Given the description of an element on the screen output the (x, y) to click on. 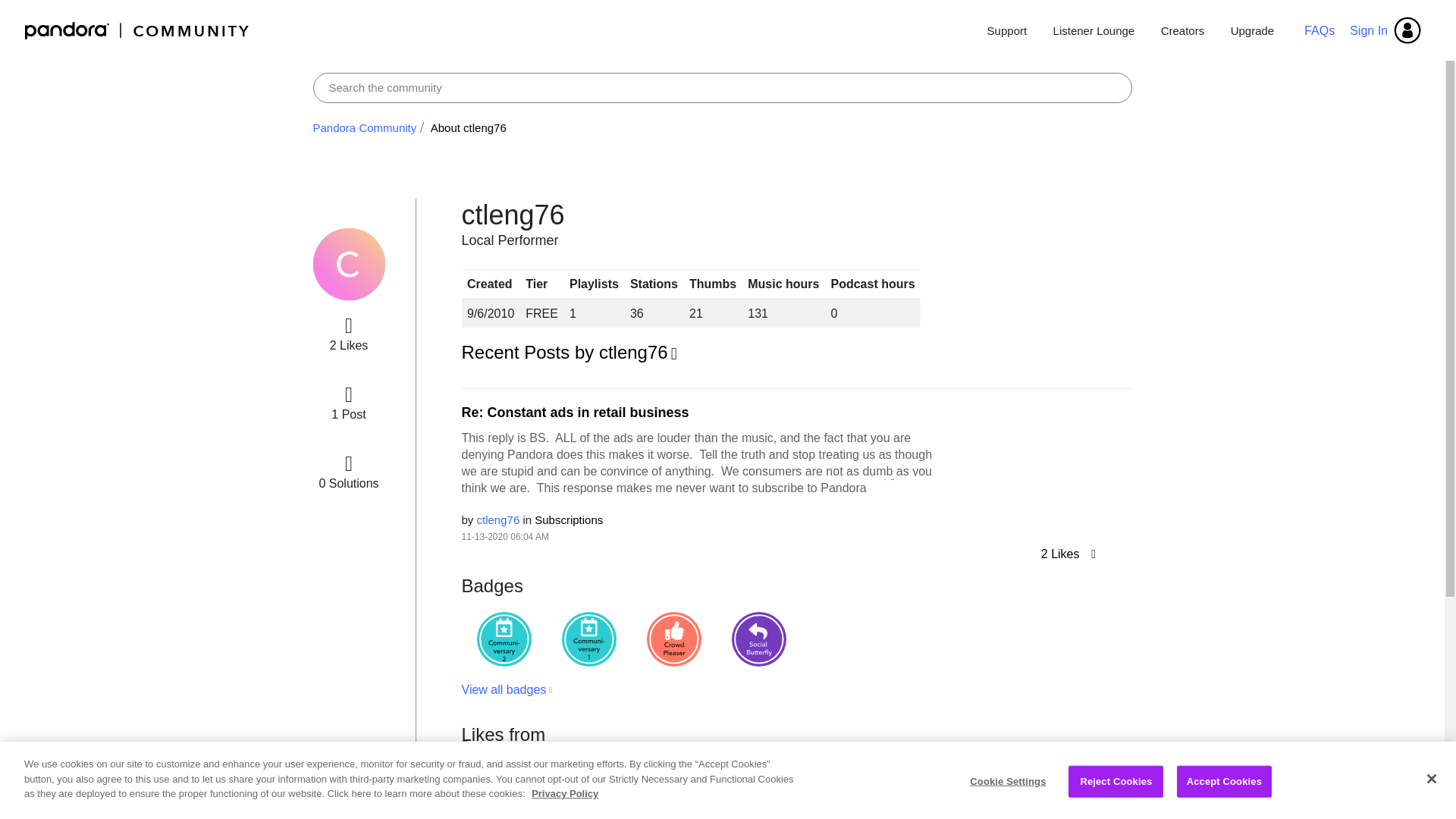
Support (1007, 30)
Happy Communiversary 1 (587, 638)
Happy Communiversary 2 (503, 638)
ctleng76 (498, 519)
Show option menu (571, 353)
... View more (903, 485)
Creators (1182, 30)
Re: Constant ads in retail business (574, 412)
Upgrade (1247, 30)
Recent Posts by ctleng76 (571, 353)
